Given the description of an element on the screen output the (x, y) to click on. 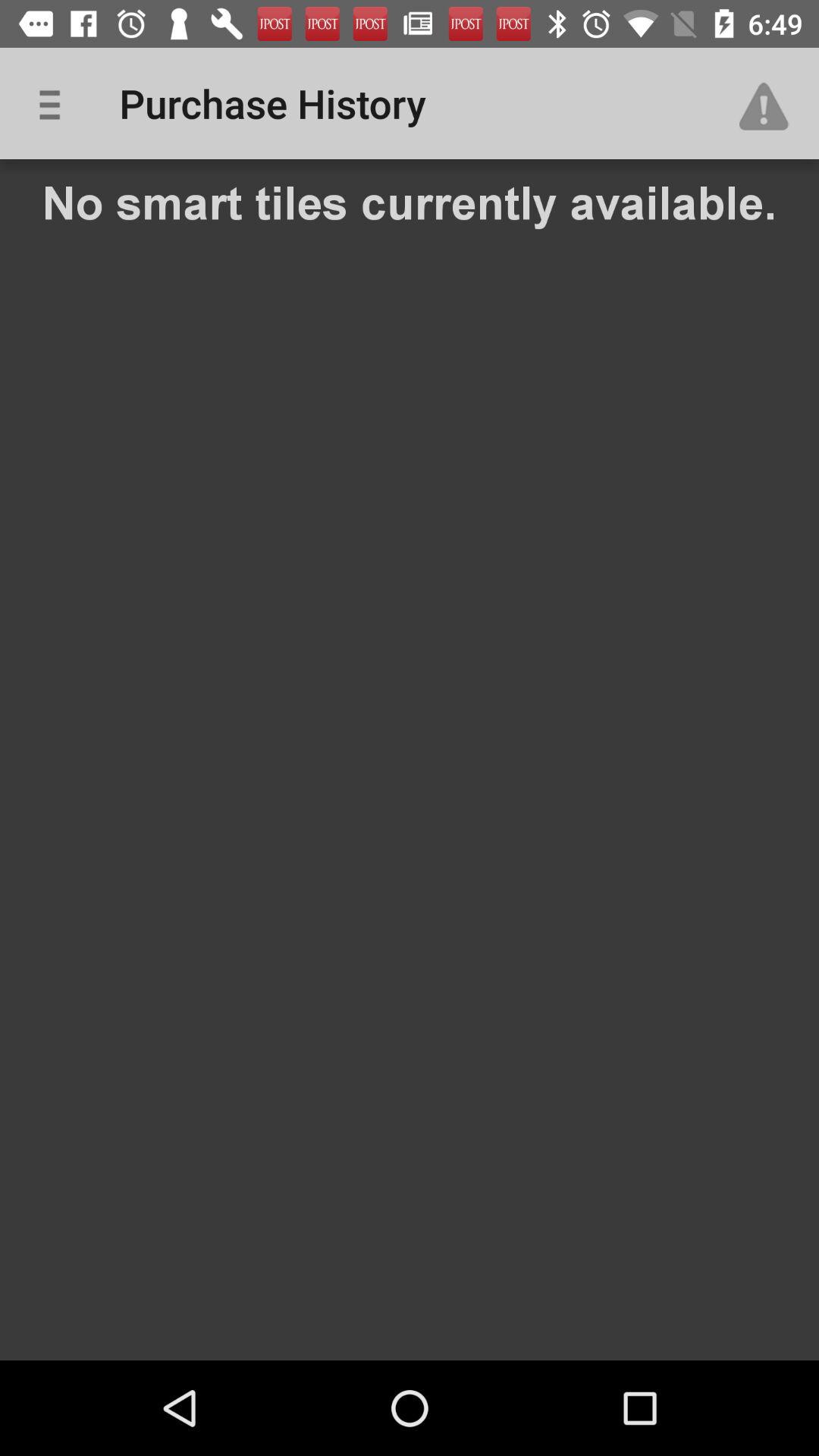
turn off the icon next to the purchase history app (55, 103)
